Given the description of an element on the screen output the (x, y) to click on. 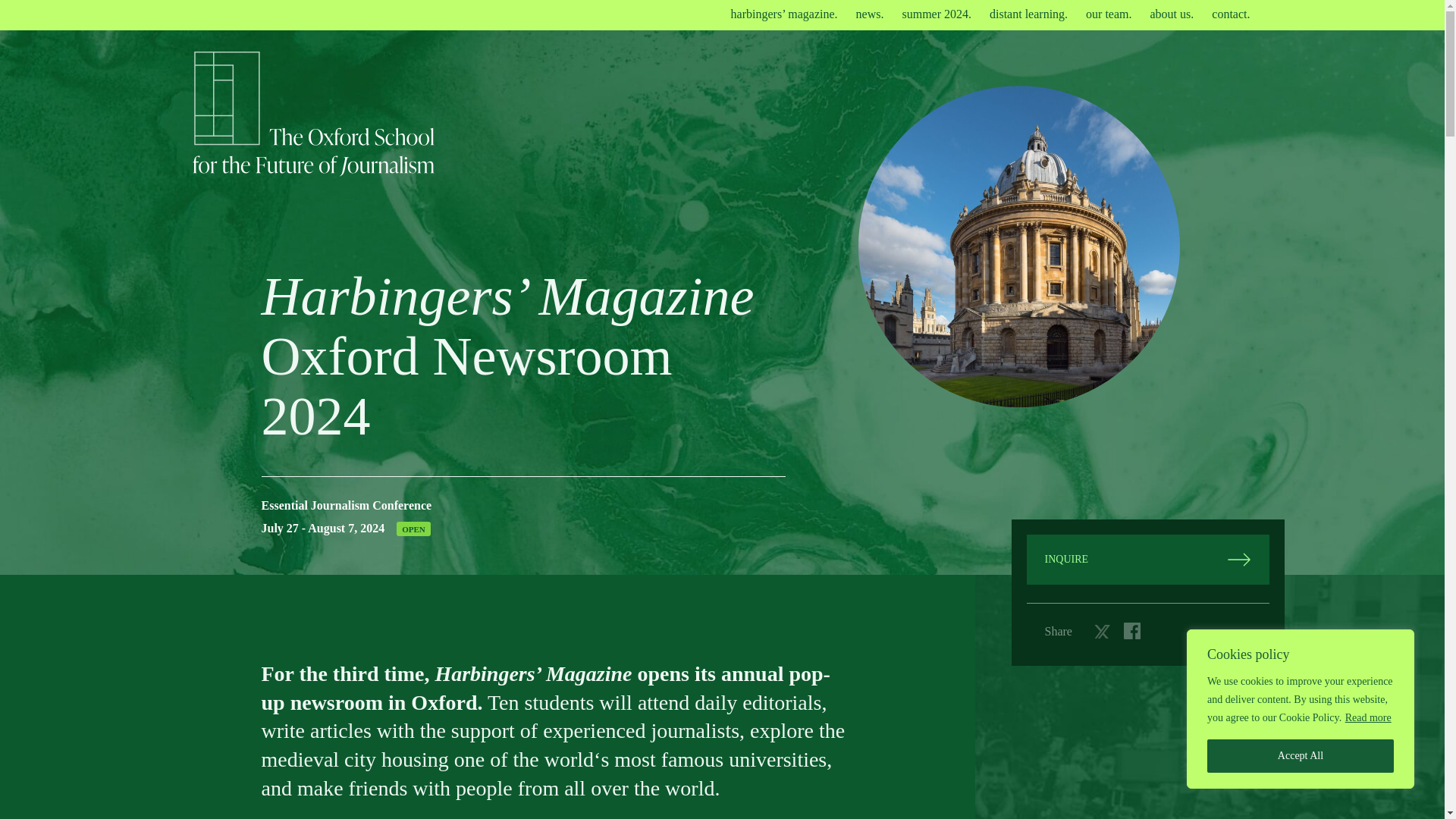
Read more (1367, 717)
INQUIRE (1147, 559)
Accept All (1300, 756)
